Given the description of an element on the screen output the (x, y) to click on. 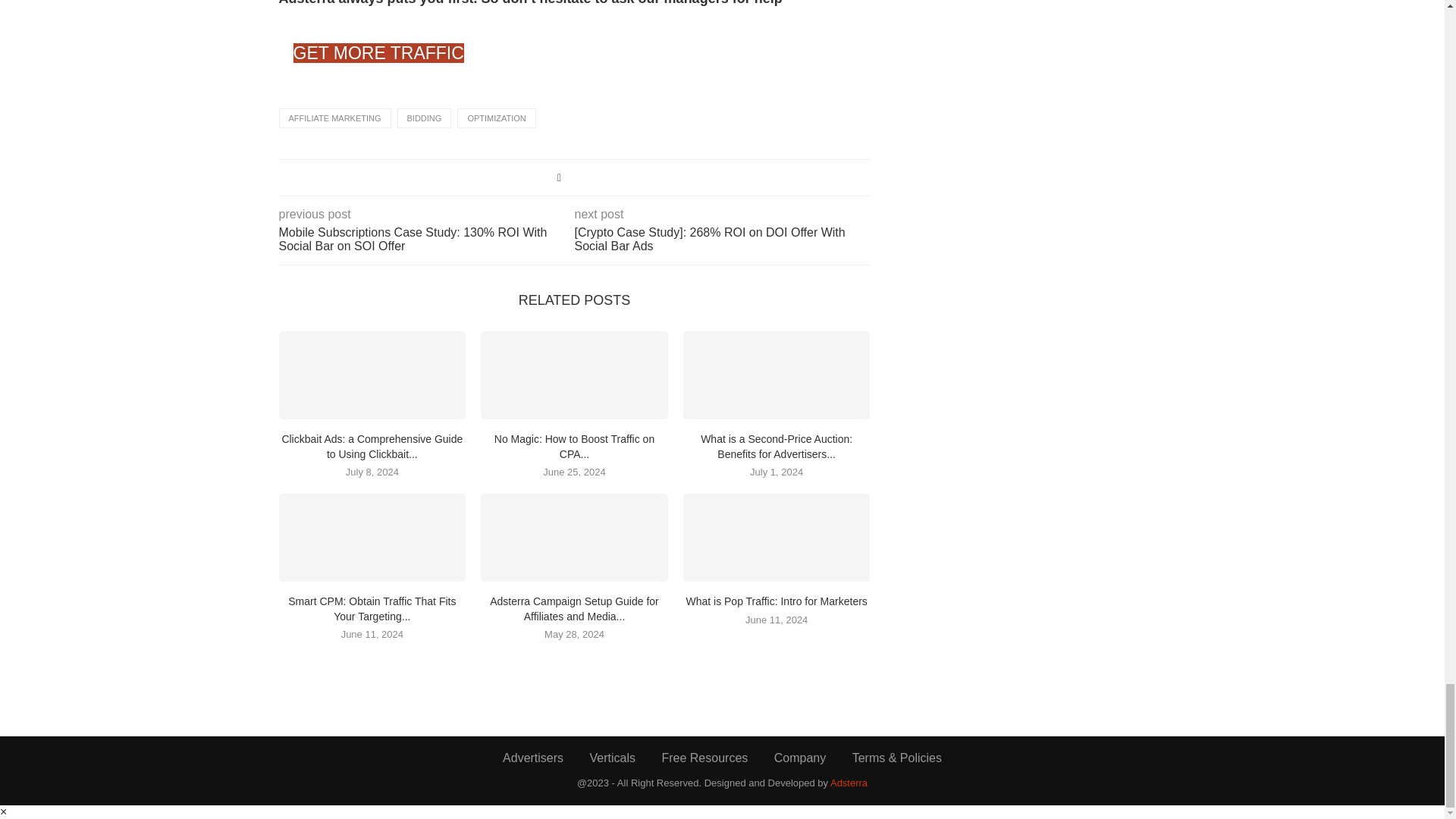
What is Pop Traffic: Intro for Marketers (776, 537)
